Given the description of an element on the screen output the (x, y) to click on. 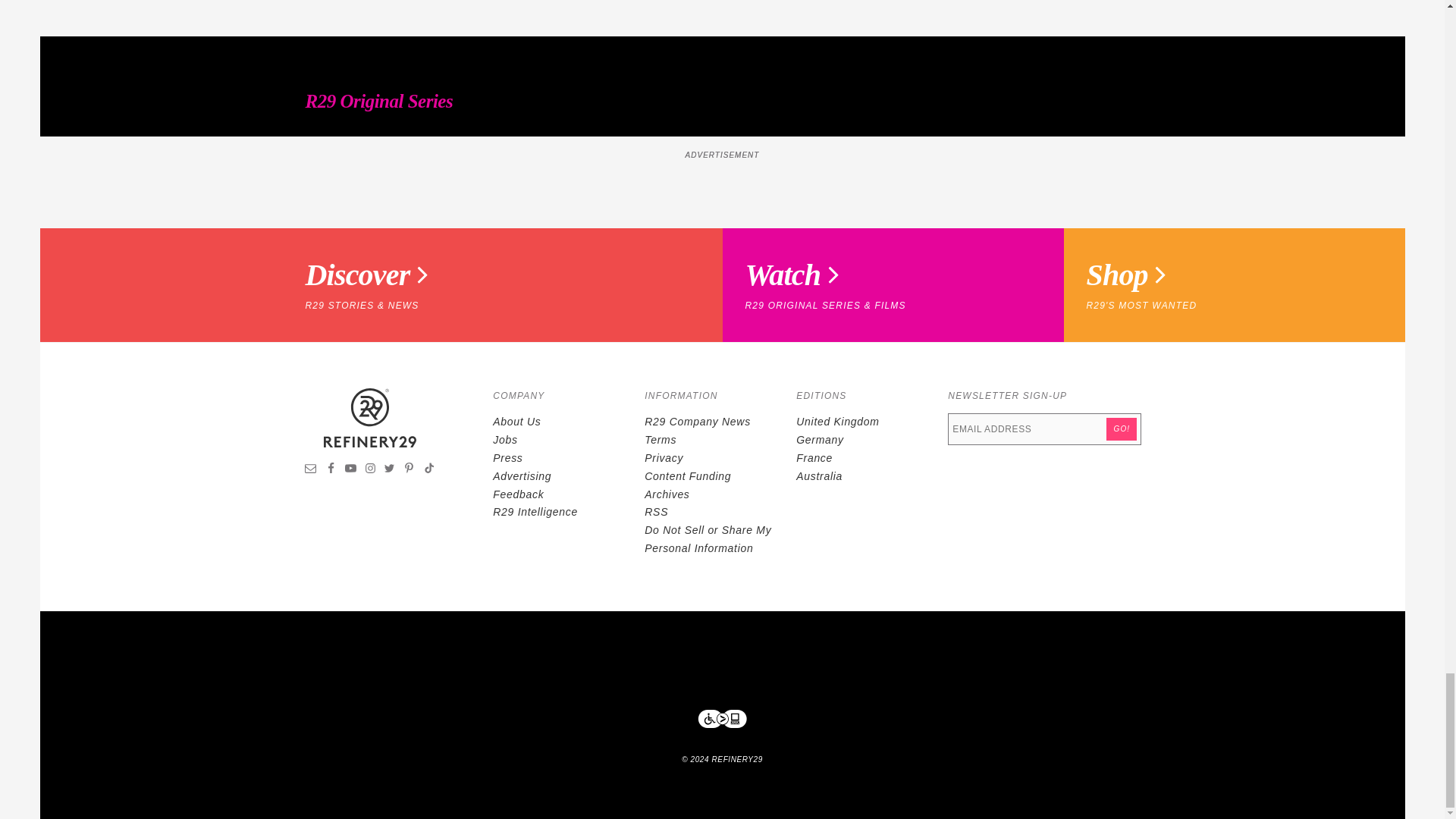
Sign up for newsletters (310, 469)
Visit Refinery29 on YouTube (350, 469)
Visit Refinery29 on TikTok (428, 469)
